Given the description of an element on the screen output the (x, y) to click on. 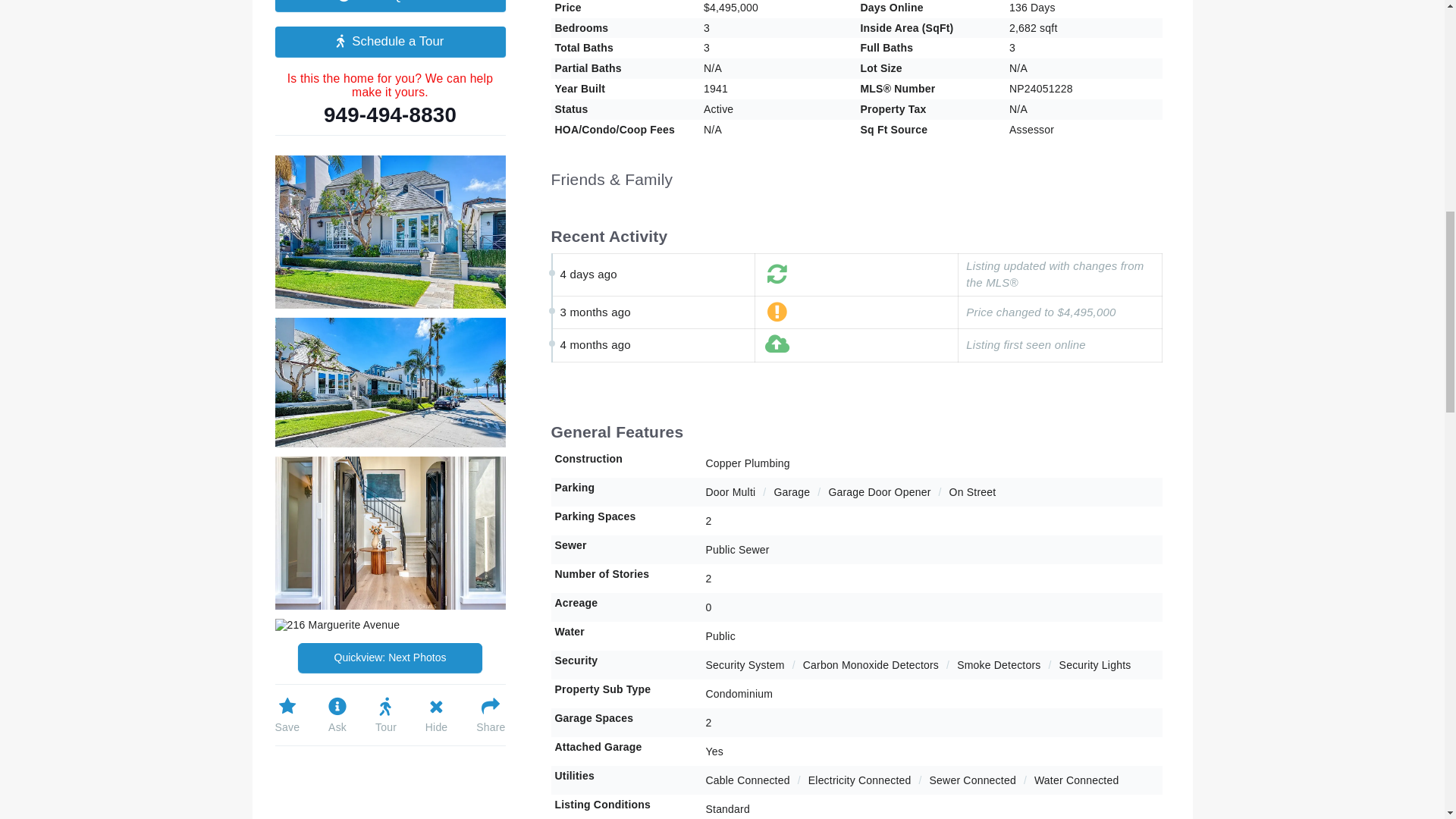
Properties 1 (390, 231)
Properties 2 (390, 382)
Properties 4 (336, 624)
Properties 3 (390, 532)
